Given the description of an element on the screen output the (x, y) to click on. 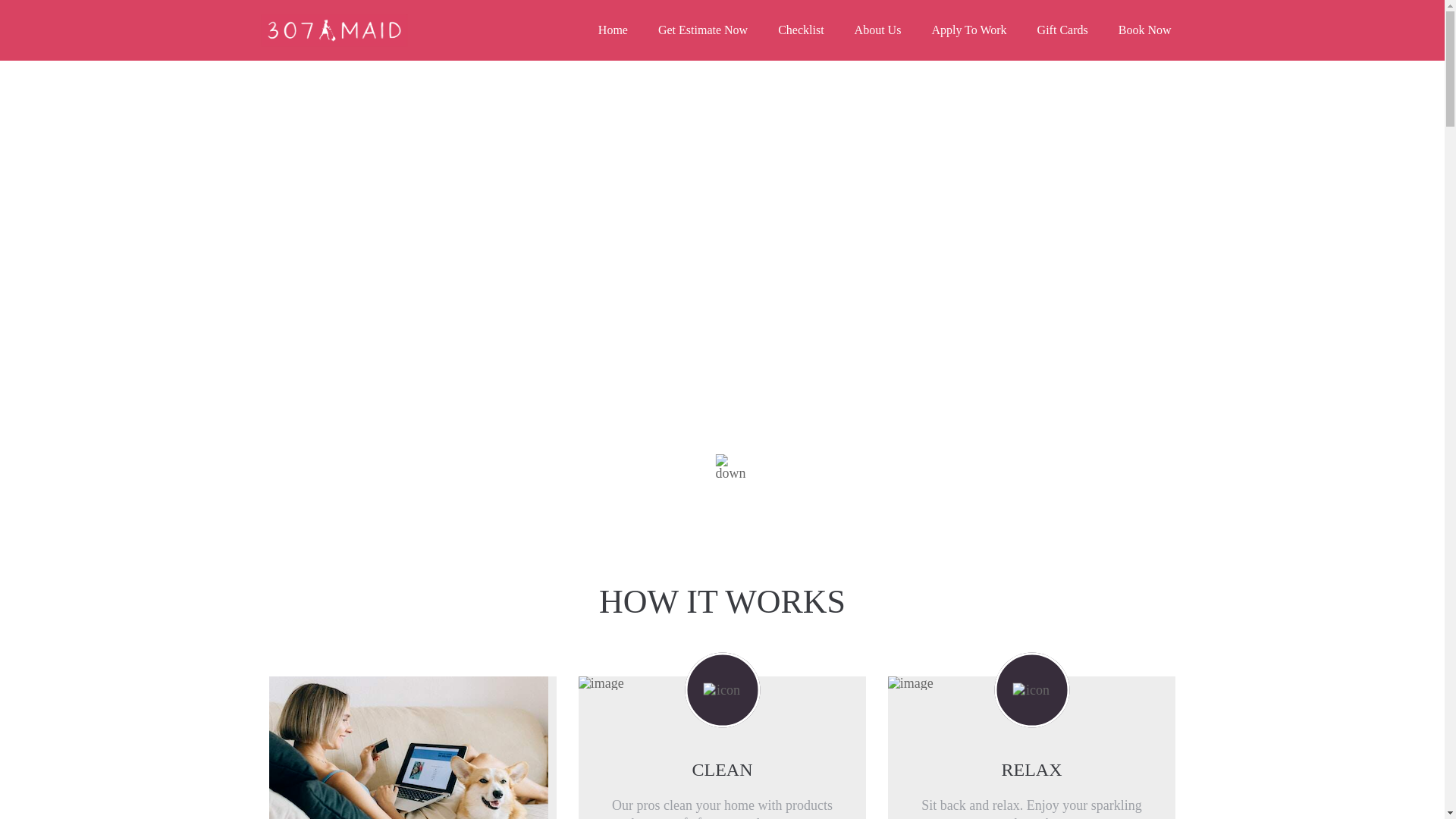
Apply To Work Element type: text (968, 30)
Checklist Element type: text (800, 30)
how it works Element type: text (722, 475)
Get Estimate Now Element type: text (702, 30)
Home Element type: text (612, 30)
About Us Element type: text (877, 30)
Book Now Element type: text (1144, 30)
Gift Cards Element type: text (1062, 30)
